Given the description of an element on the screen output the (x, y) to click on. 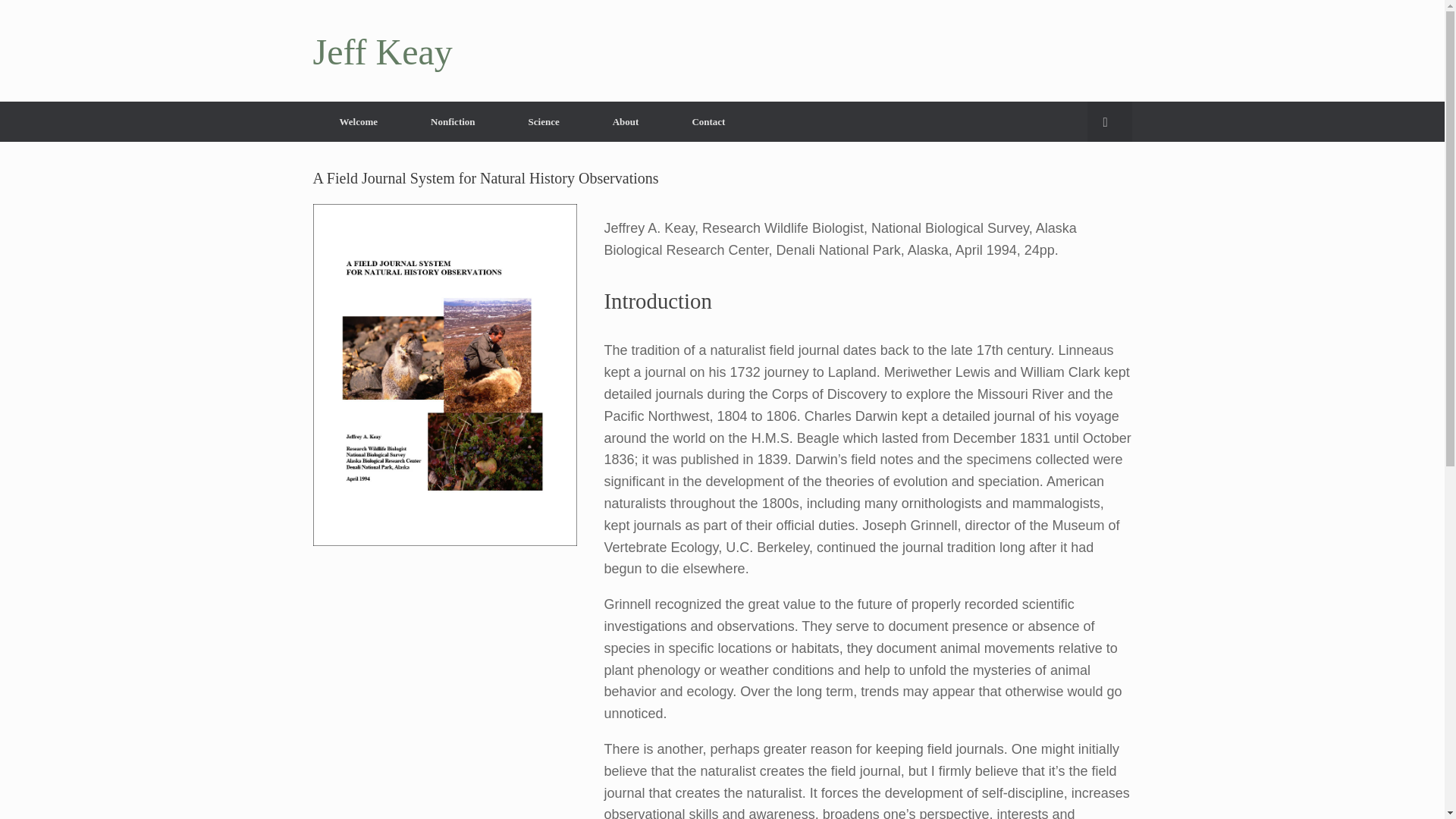
Contact (708, 121)
About (625, 121)
Welcome (358, 121)
Jeff Keay (382, 52)
Science (544, 121)
Jeff Keay (382, 52)
Nonfiction (453, 121)
